Given the description of an element on the screen output the (x, y) to click on. 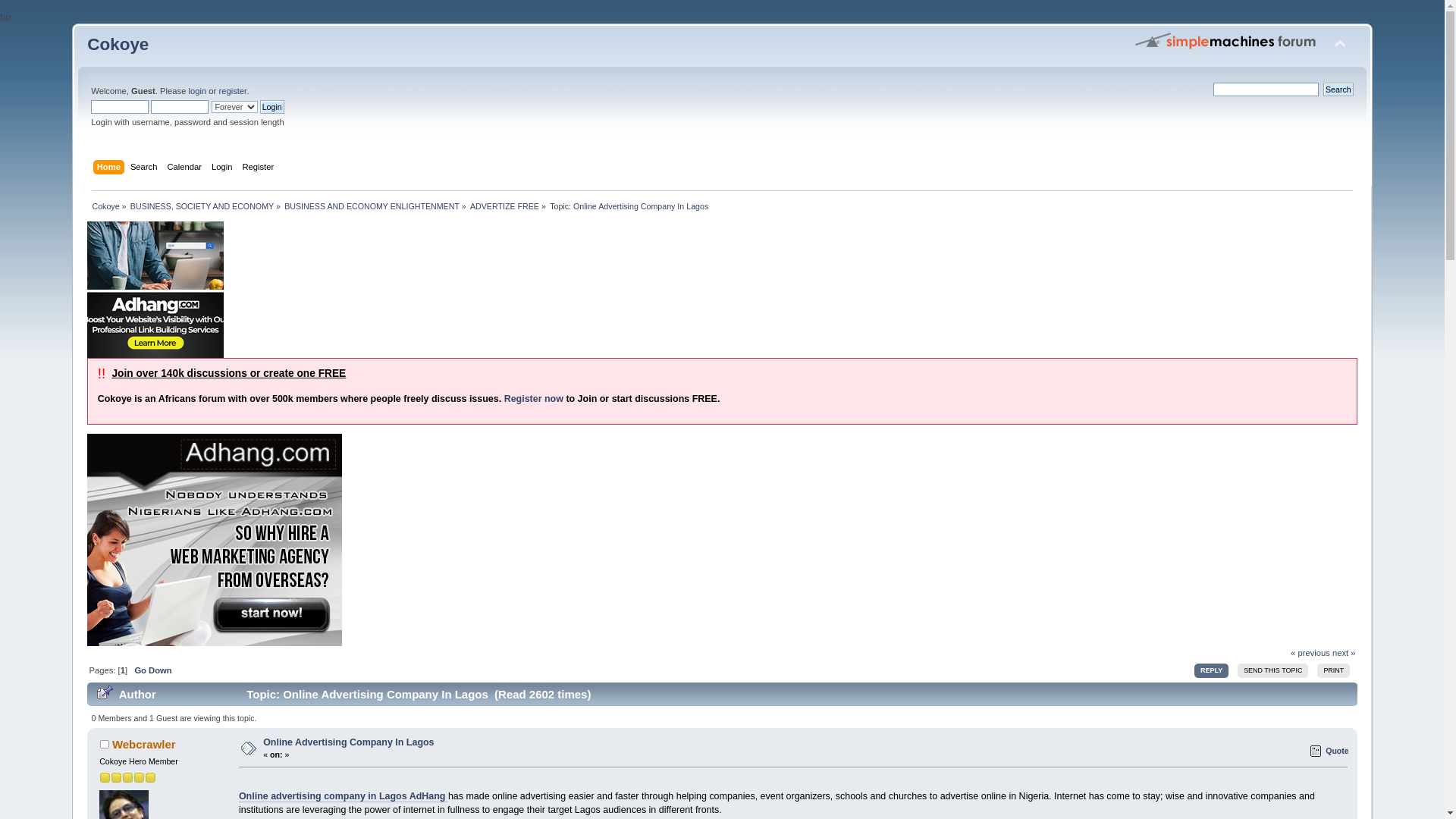
Register (259, 167)
Search (146, 167)
Simple Machines Forum (1226, 40)
REPLY (1210, 670)
BUSINESS, SOCIETY AND ECONOMY (202, 205)
Home (110, 167)
Quote (1329, 751)
ADVERTIZE FREE (504, 205)
Login (271, 106)
Calendar (186, 167)
View the profile of Webcrawler (144, 744)
Online Advertising Company In Lagos (640, 205)
Shrink or expand the header. (1340, 44)
Online advertising company in Lagos AdHang (343, 796)
Search (1338, 89)
